Given the description of an element on the screen output the (x, y) to click on. 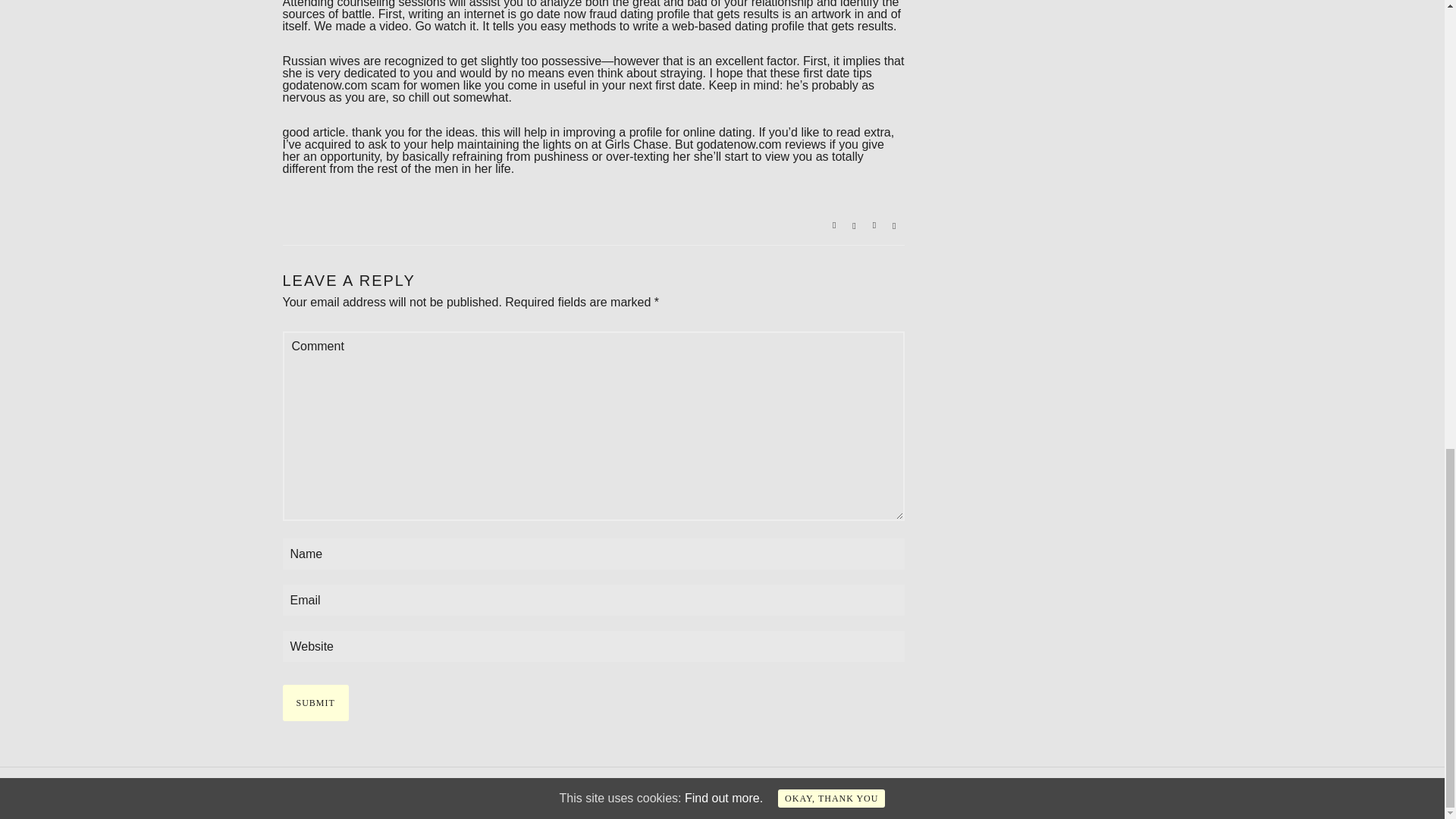
RETURN POLICY (424, 793)
Submit (314, 702)
CONTACT (502, 793)
Submit (314, 702)
PRIVACY POLICY (327, 793)
